Given the description of an element on the screen output the (x, y) to click on. 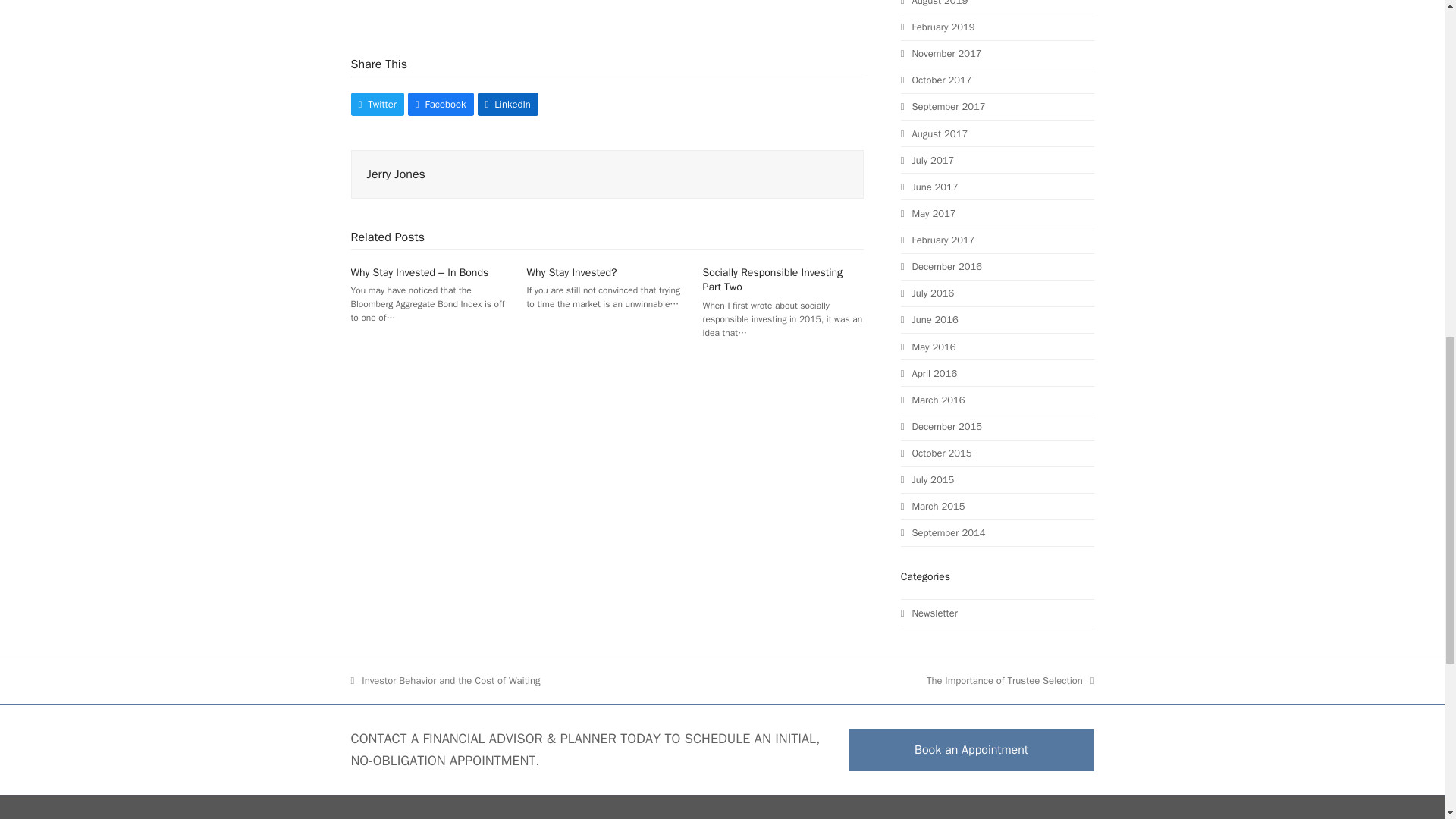
Facebook (440, 104)
Visit Author Page (395, 174)
LinkedIn (507, 104)
Socially Responsible Investing Part Two (773, 279)
Twitter (376, 104)
Why Stay Invested? (572, 272)
Jerry Jones (395, 174)
